Given the description of an element on the screen output the (x, y) to click on. 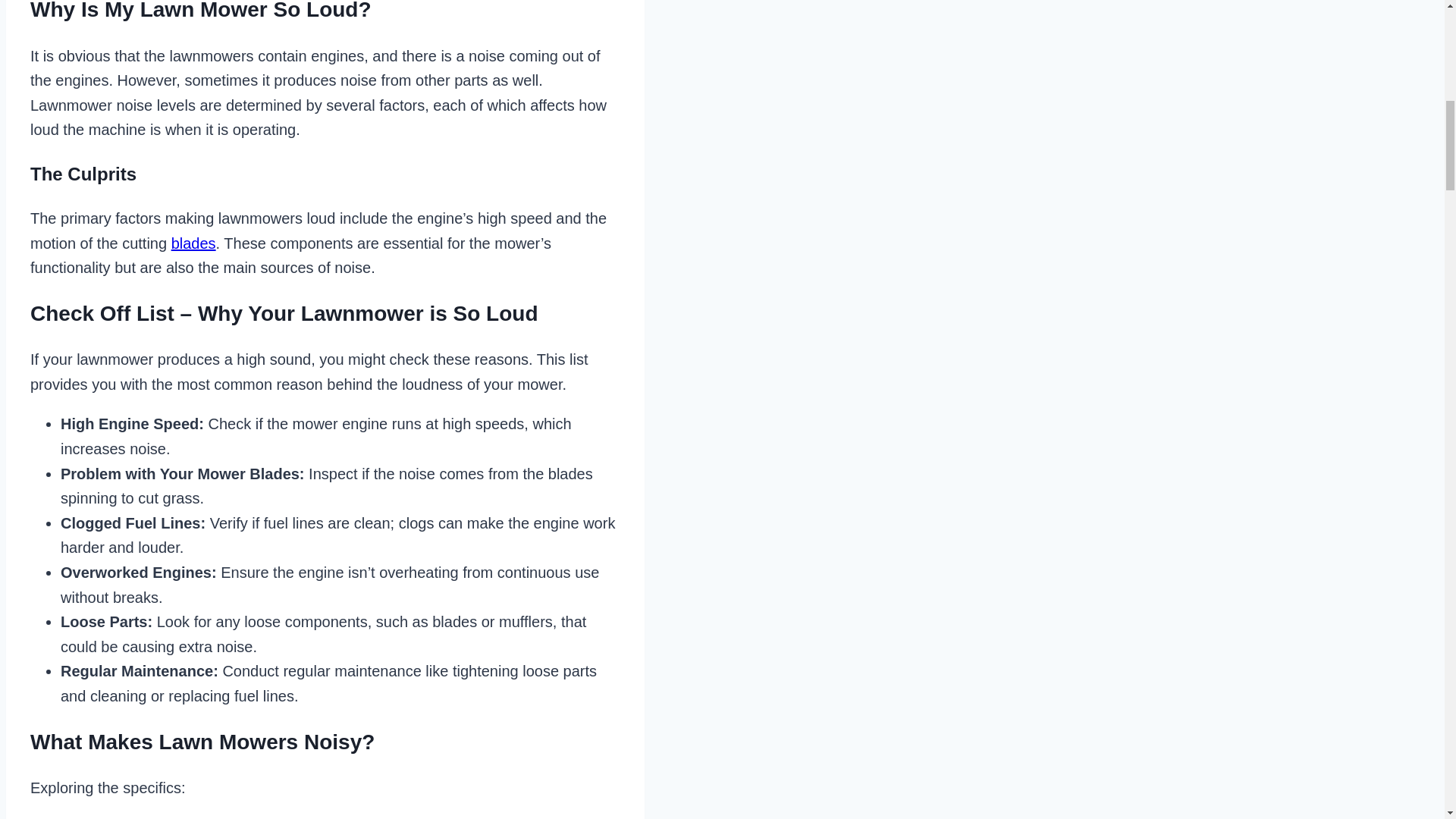
blades (193, 243)
